Given the description of an element on the screen output the (x, y) to click on. 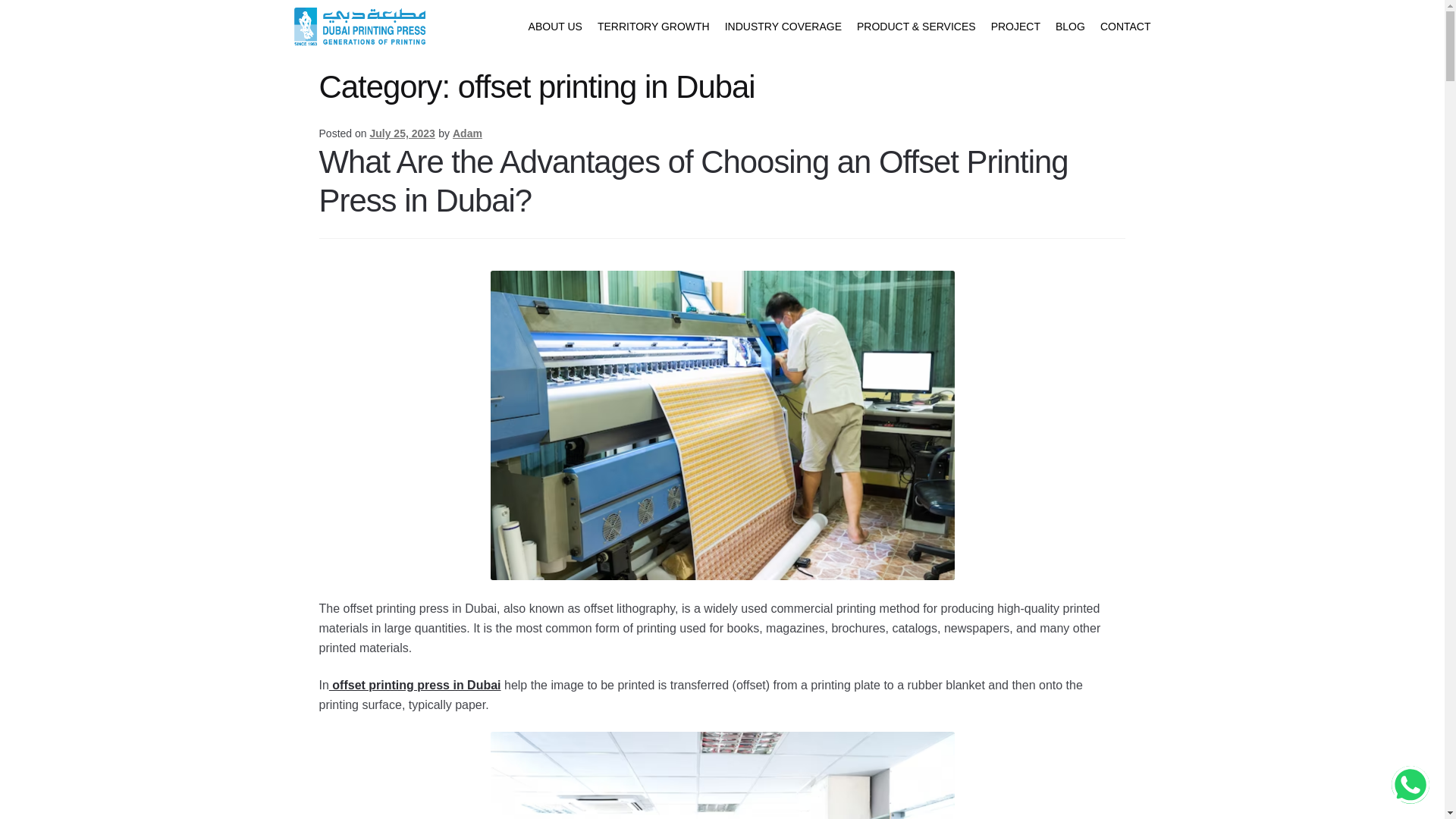
PROJECT (1016, 26)
CONTACT (1125, 26)
BLOG (1069, 26)
INDUSTRY COVERAGE (783, 26)
TERRITORY GROWTH (653, 26)
ABOUT US (555, 26)
